Given the description of an element on the screen output the (x, y) to click on. 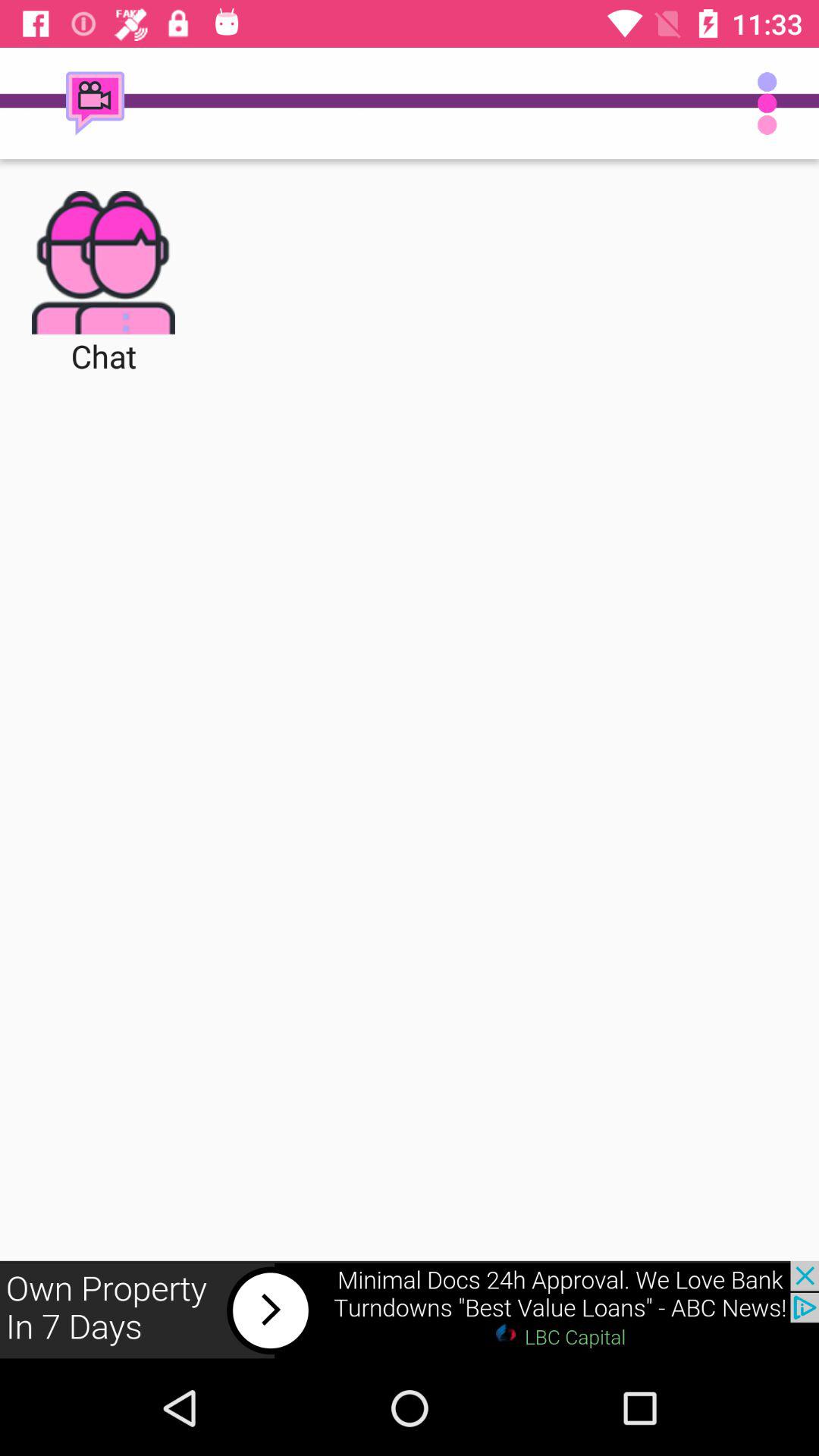
open advertisement (409, 1310)
